Given the description of an element on the screen output the (x, y) to click on. 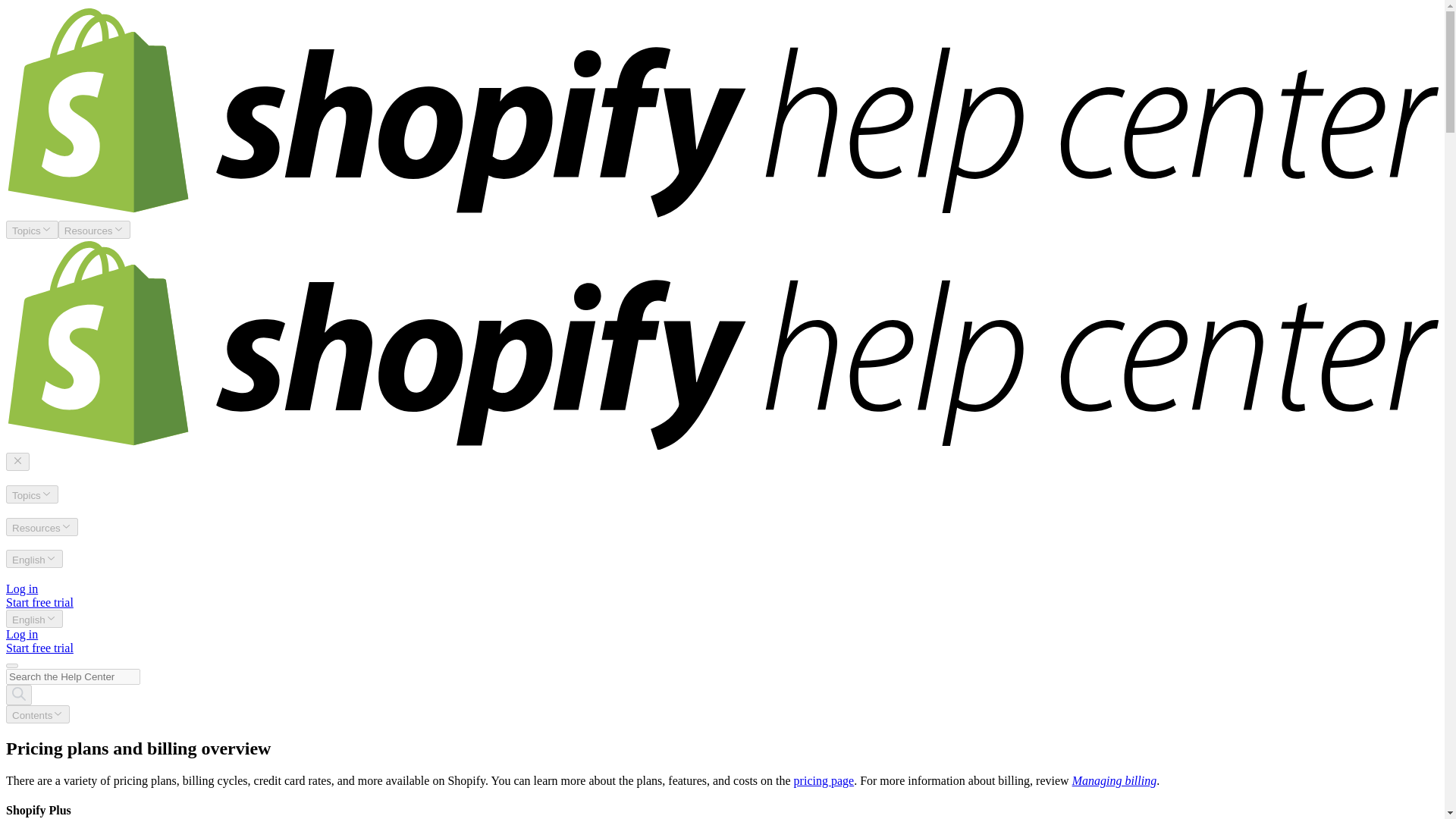
Start free trial (39, 602)
English (33, 618)
Log in (21, 588)
Resources (41, 526)
Topics (31, 229)
Topics (31, 494)
Managing billing (1114, 780)
Contents (37, 714)
Resources (94, 229)
Start free trial (39, 647)
